Given the description of an element on the screen output the (x, y) to click on. 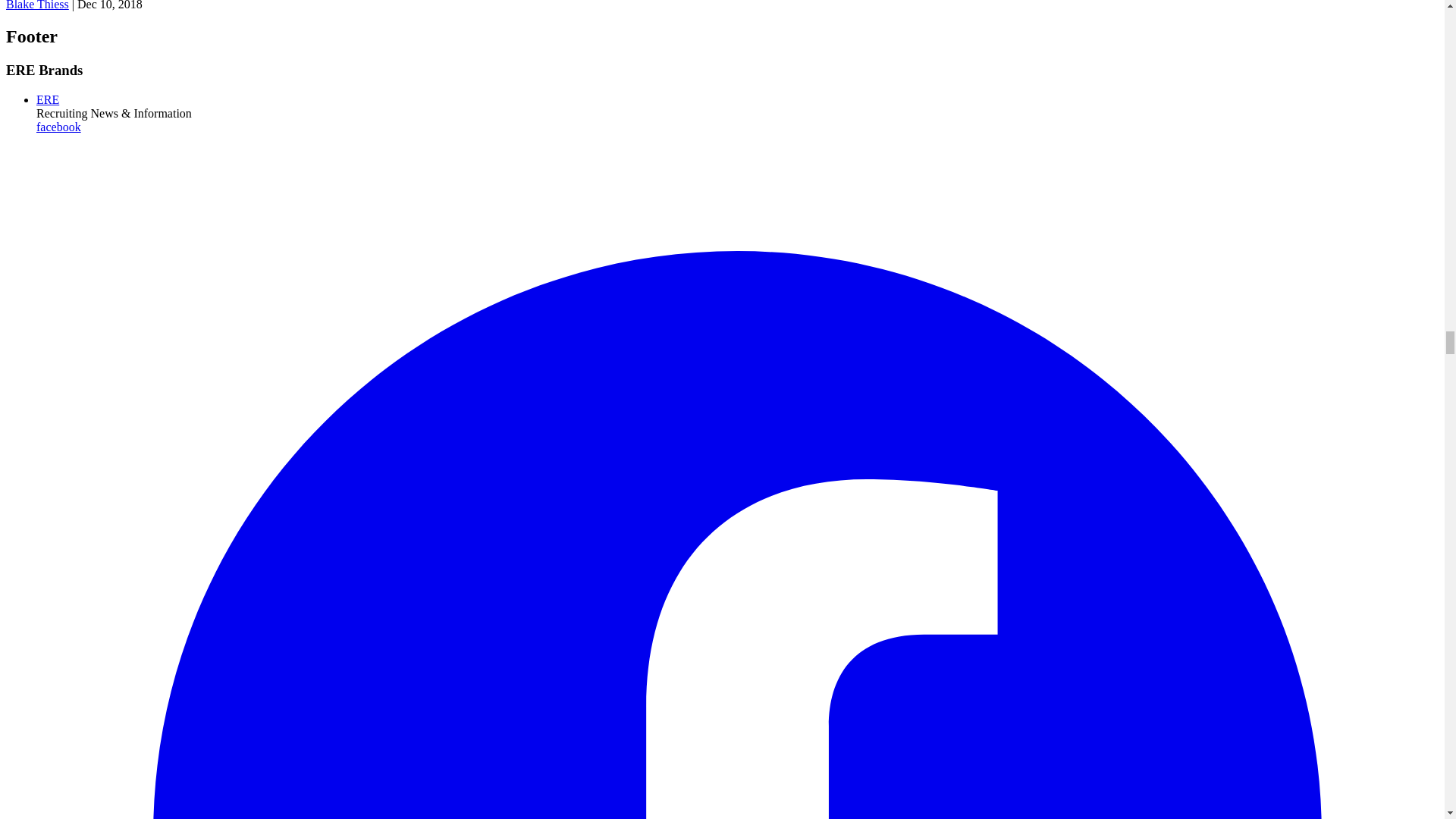
Blake Thiess (36, 5)
ERE (47, 99)
